Given the description of an element on the screen output the (x, y) to click on. 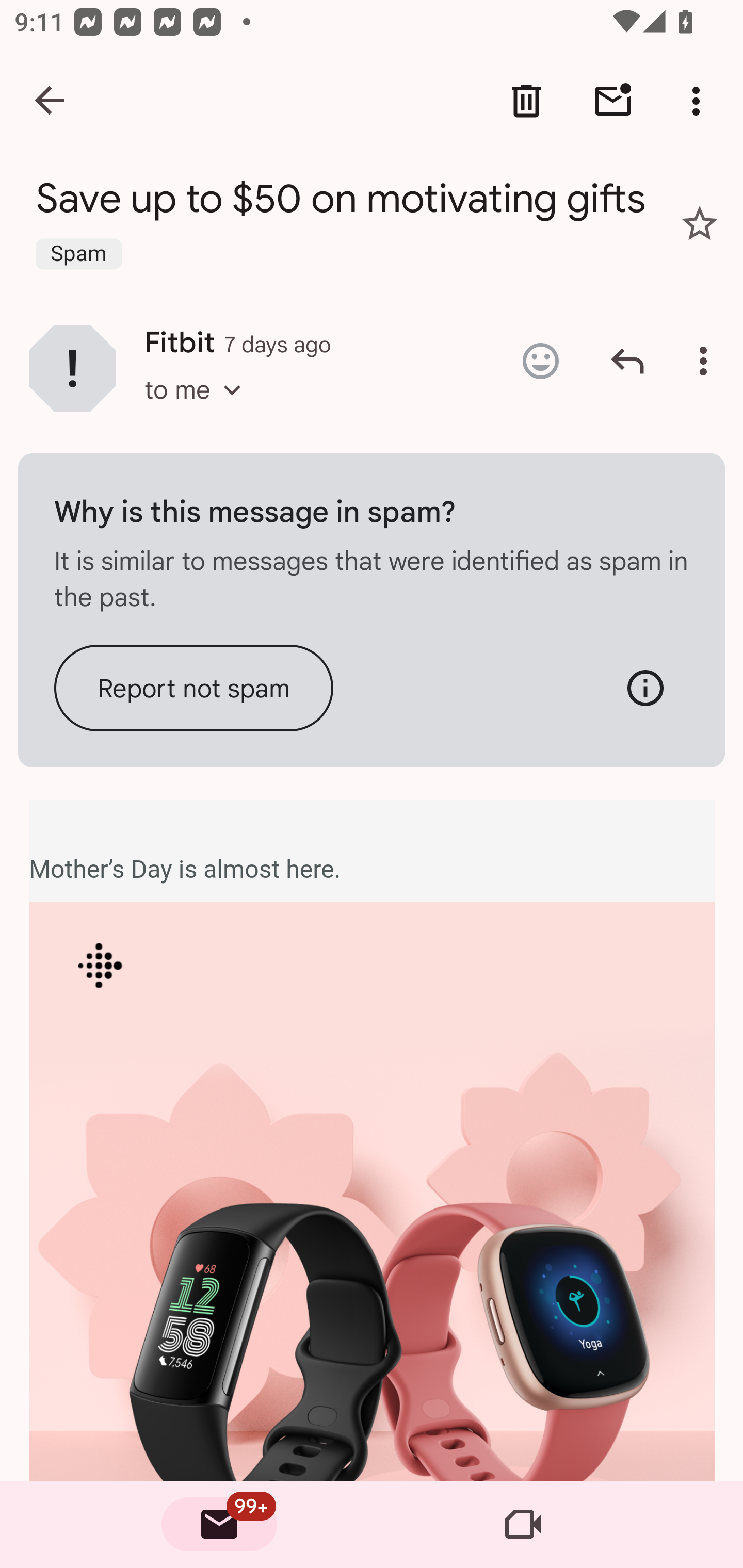
Navigate up (50, 101)
Delete (525, 101)
Mark unread (612, 101)
More options (699, 101)
Add star (699, 223)
Add emoji reaction (540, 361)
Reply (626, 361)
More options (706, 361)
Show contact information for Fitbit (71, 367)
to me (199, 408)
Report not spam (193, 687)
More information (644, 687)
Meet (523, 1524)
